Given the description of an element on the screen output the (x, y) to click on. 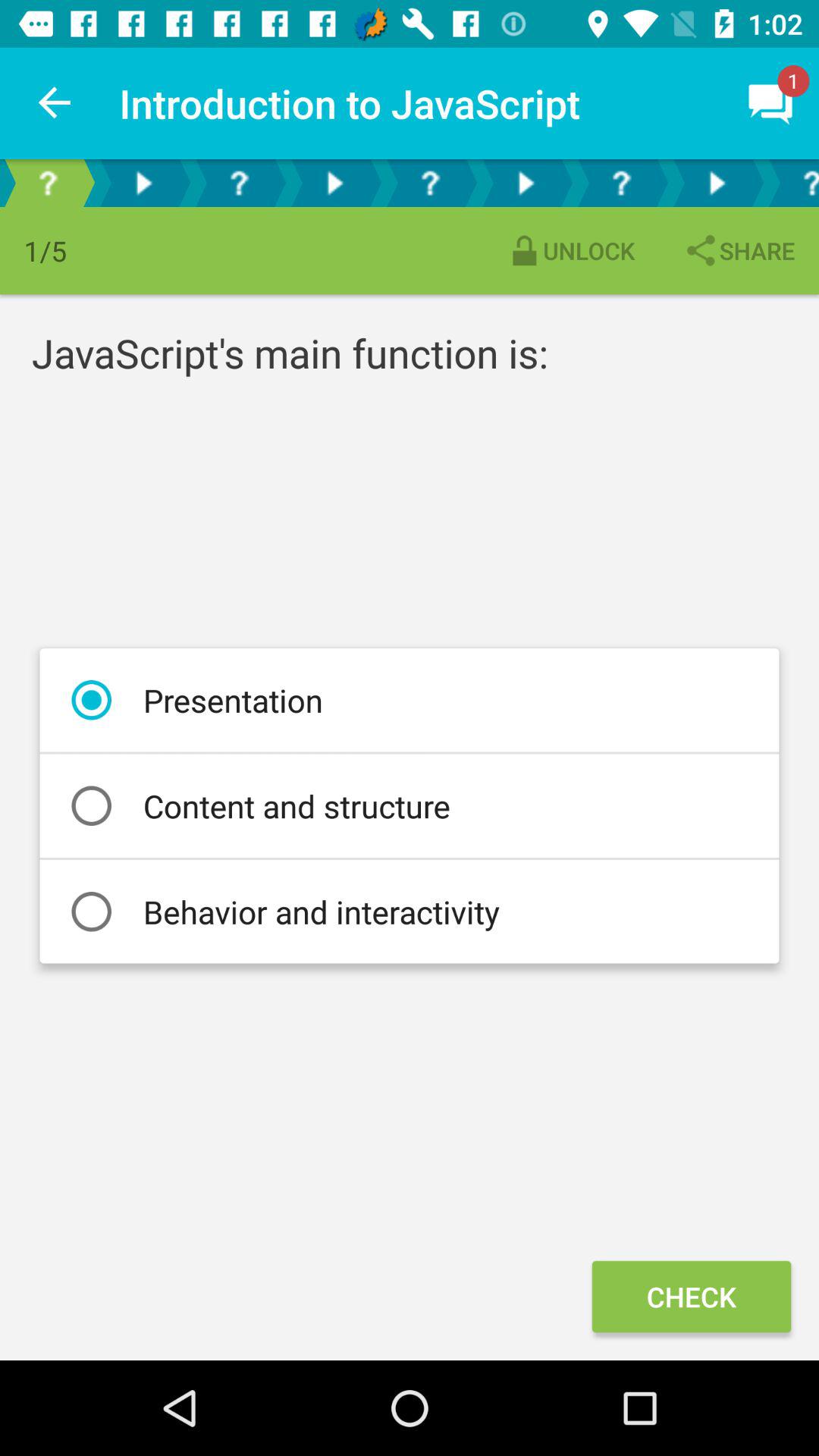
next question (716, 183)
